Given the description of an element on the screen output the (x, y) to click on. 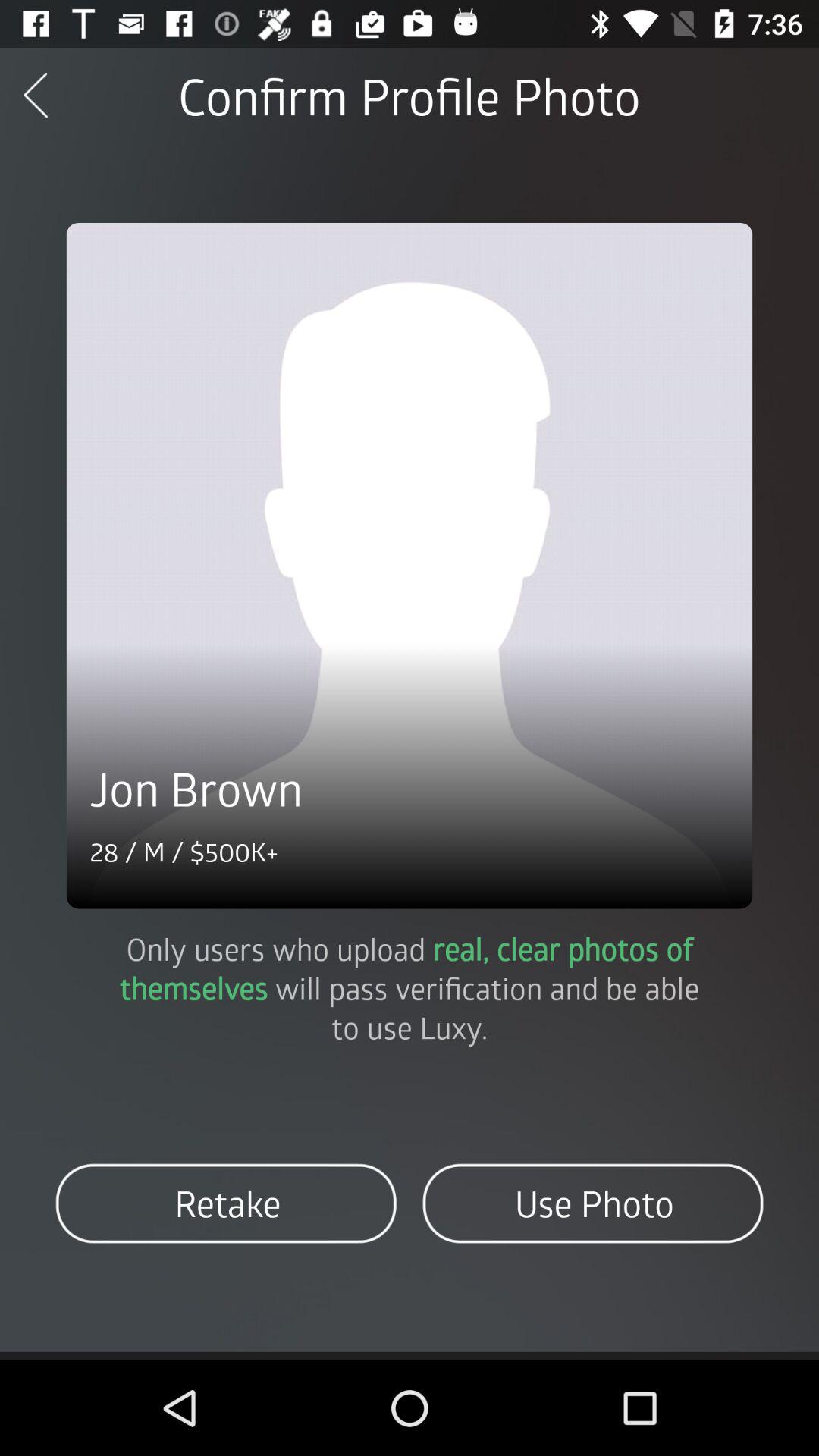
press use photo icon (592, 1203)
